Given the description of an element on the screen output the (x, y) to click on. 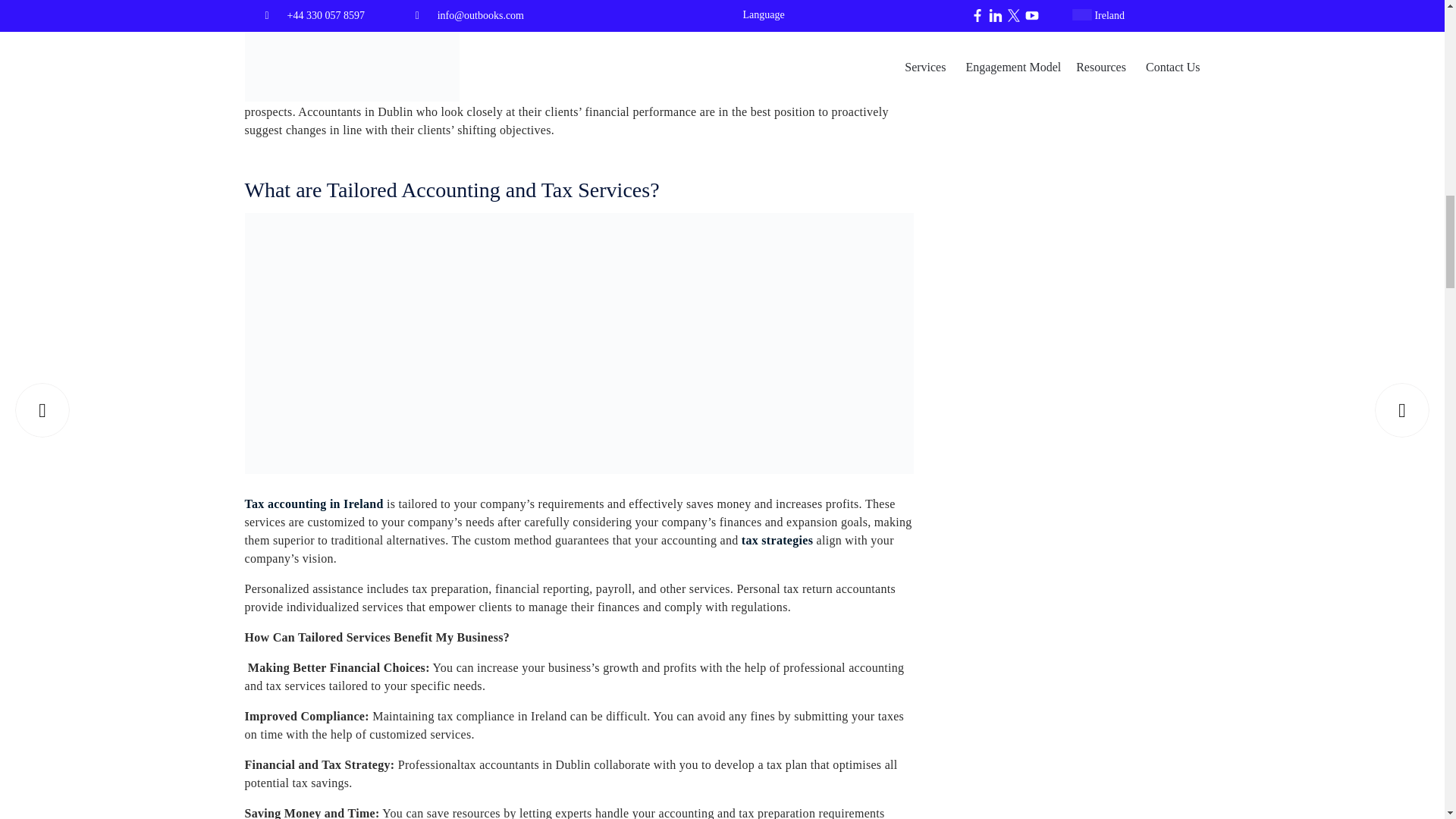
tax strategies (776, 540)
accounting (320, 27)
Tax accounting in Ireland (313, 504)
